Given the description of an element on the screen output the (x, y) to click on. 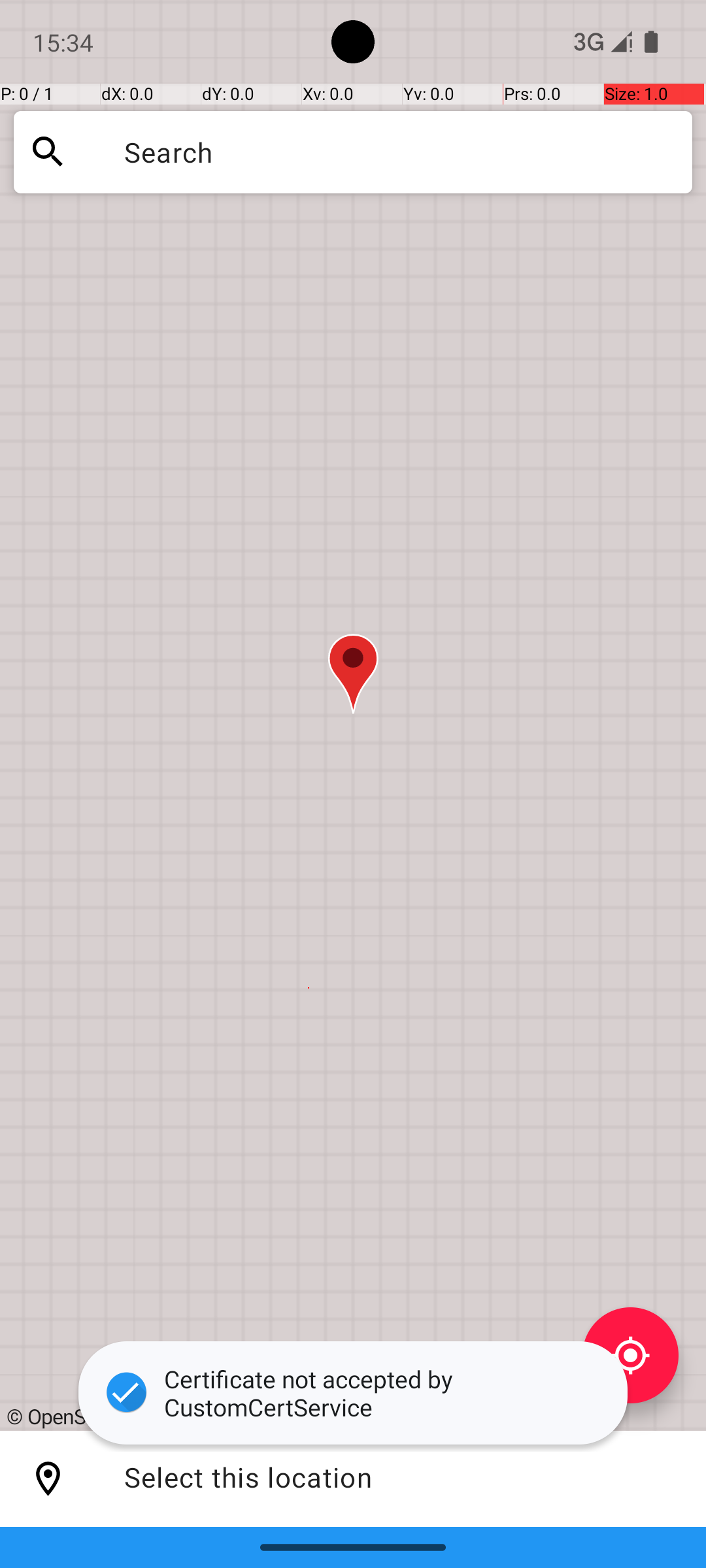
Select this location Element type: android.widget.ImageView (47, 1478)
